Given the description of an element on the screen output the (x, y) to click on. 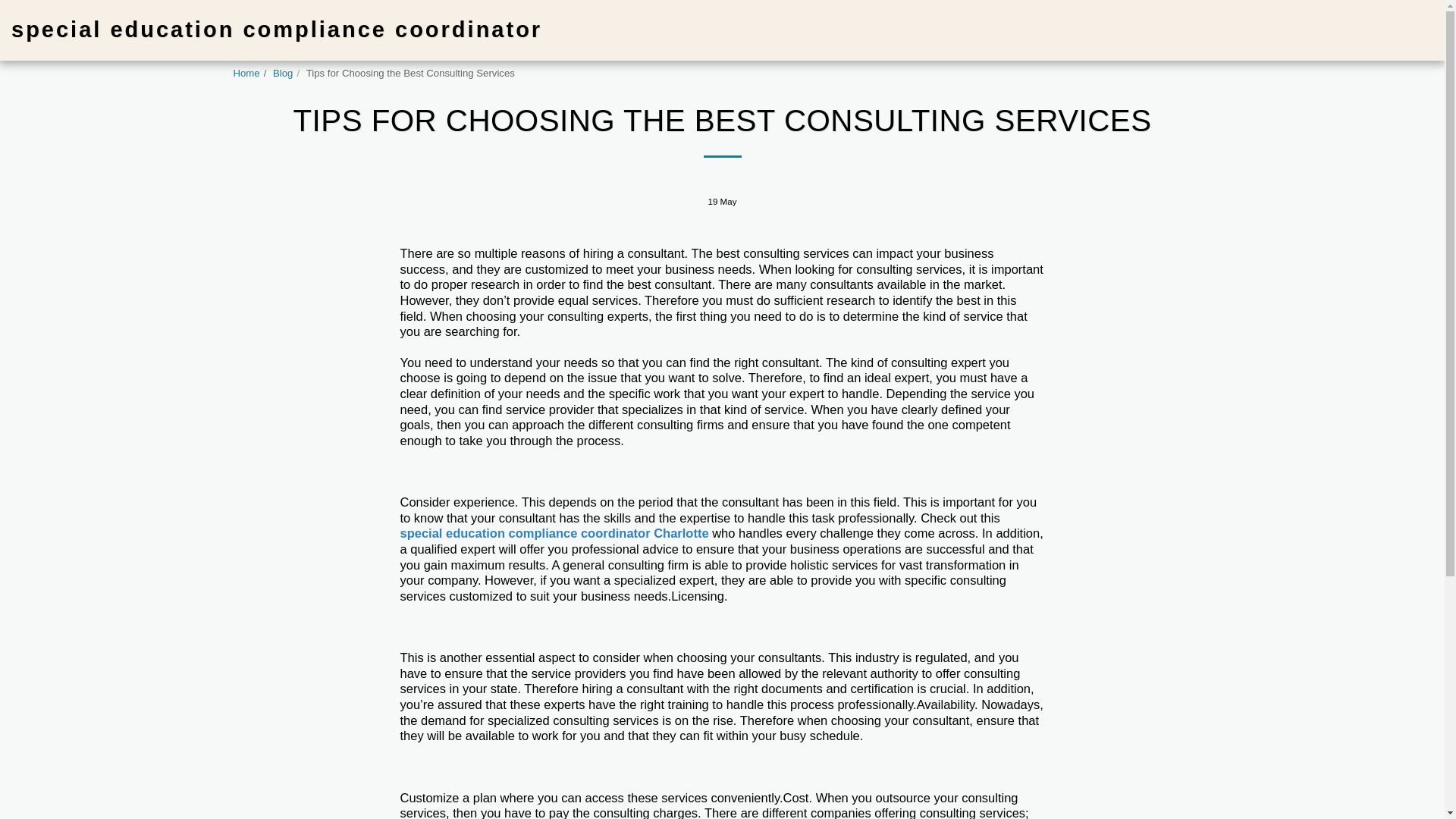
Home (246, 72)
Blog (282, 72)
special education compliance coordinator Charlotte (554, 532)
special education compliance coordinator (276, 30)
